Given the description of an element on the screen output the (x, y) to click on. 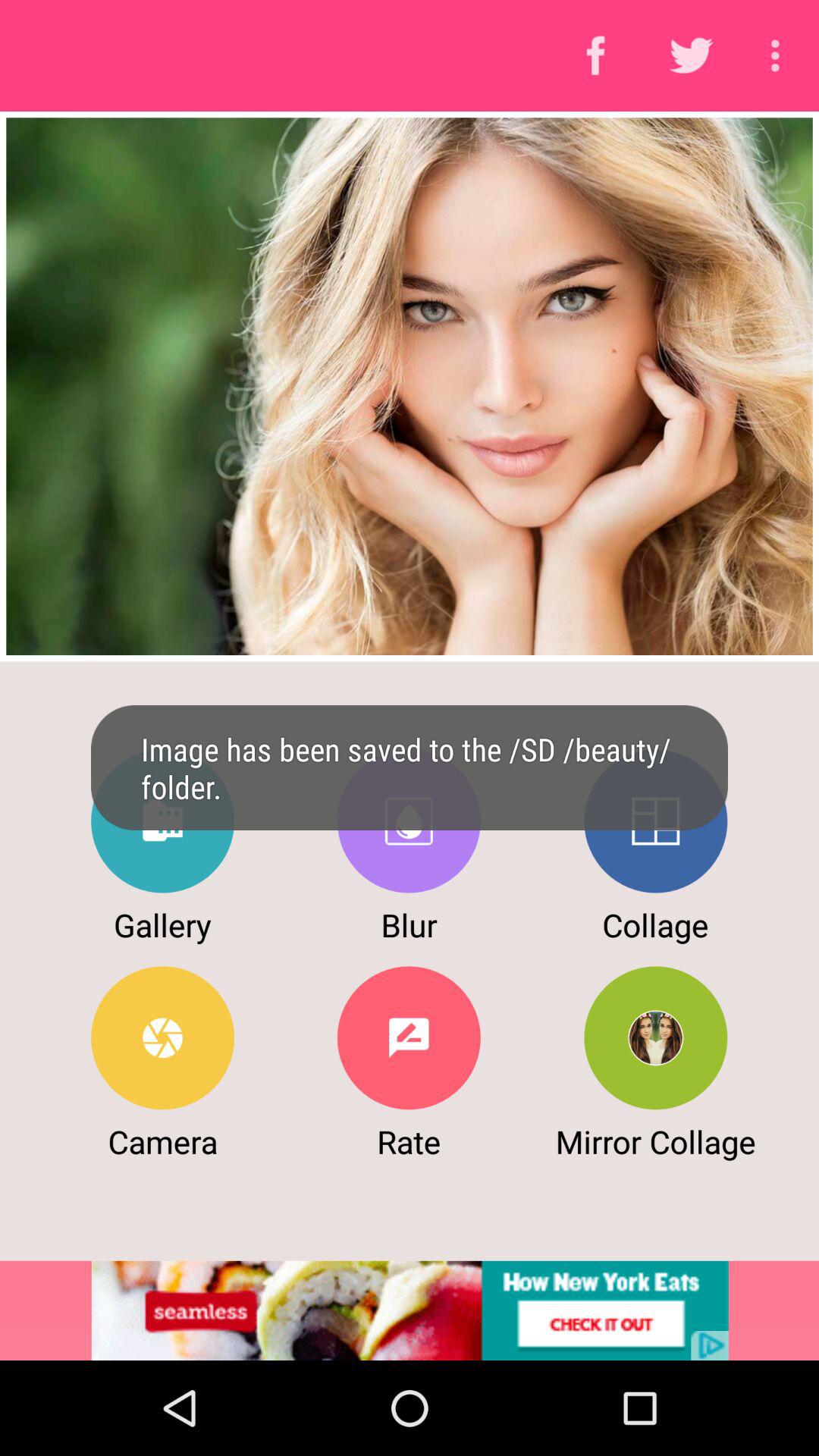
to view add (409, 1310)
